Given the description of an element on the screen output the (x, y) to click on. 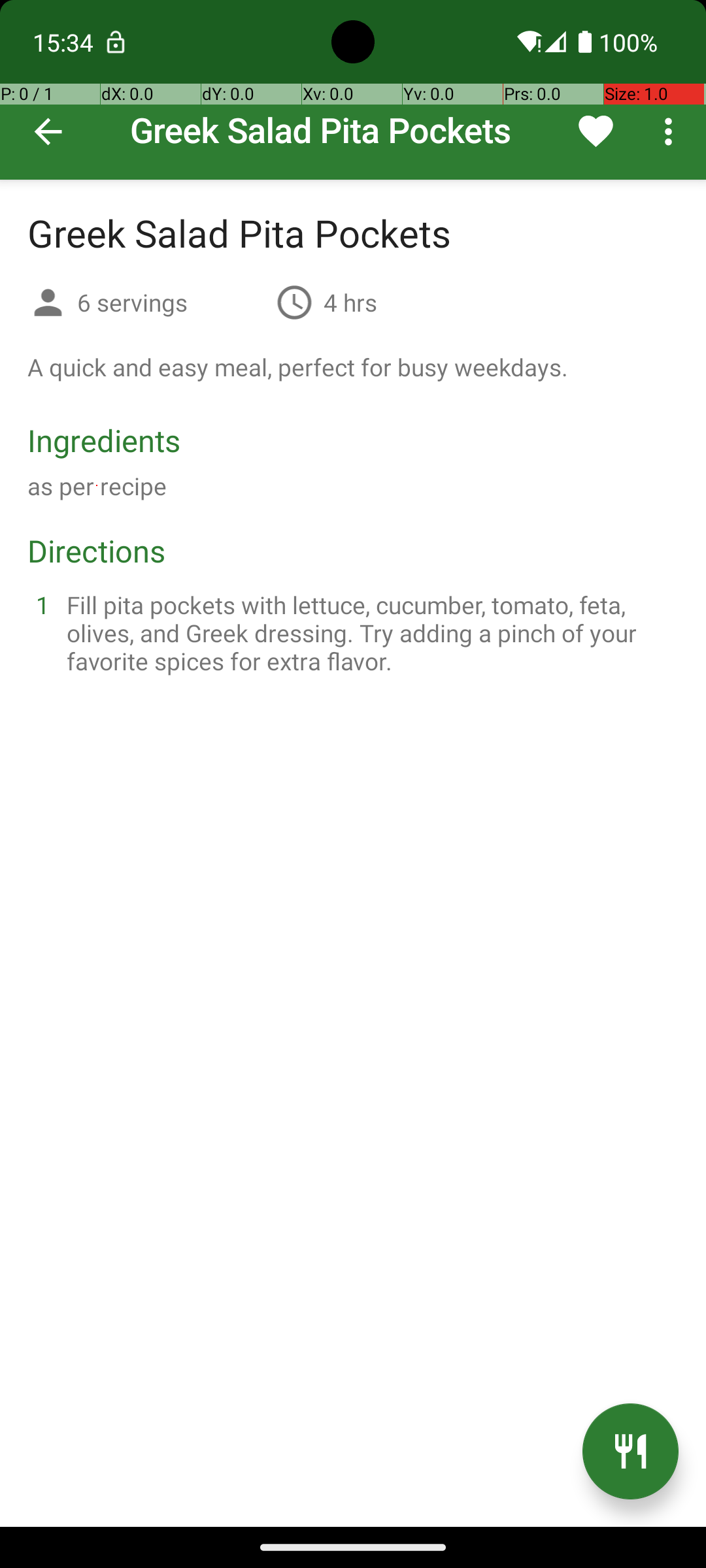
Fill pita pockets with lettuce, cucumber, tomato, feta, olives, and Greek dressing. Try adding a pinch of your favorite spices for extra flavor. Element type: android.widget.TextView (368, 632)
